Given the description of an element on the screen output the (x, y) to click on. 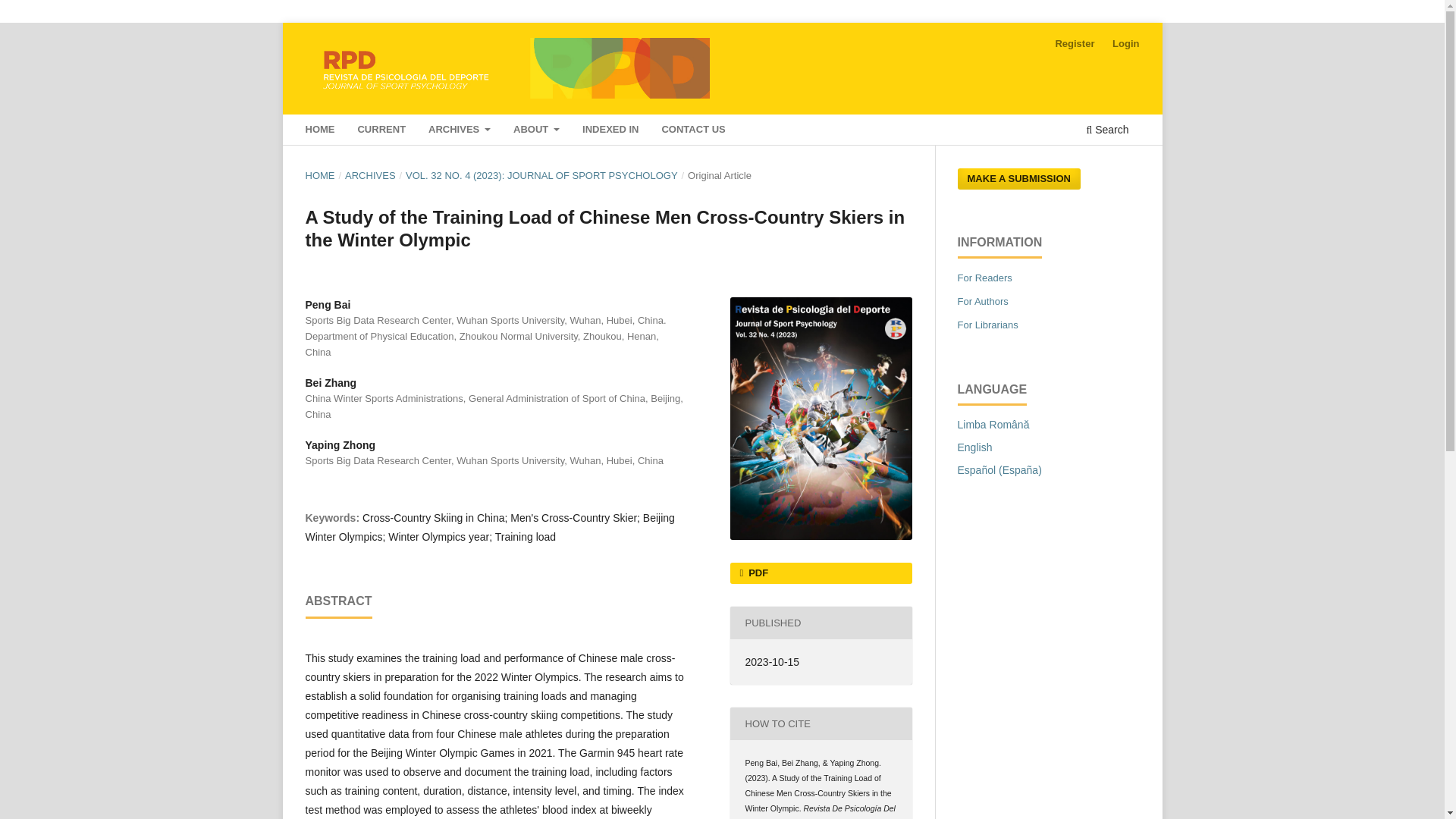
CONTACT US (693, 130)
ABOUT (536, 130)
ARCHIVES (459, 130)
PDF (820, 572)
HOME (319, 130)
Search (1107, 130)
ARCHIVES (370, 175)
HOME (319, 175)
INDEXED IN (611, 130)
Login (1126, 43)
CURRENT (381, 130)
Register (1074, 43)
